Given the description of an element on the screen output the (x, y) to click on. 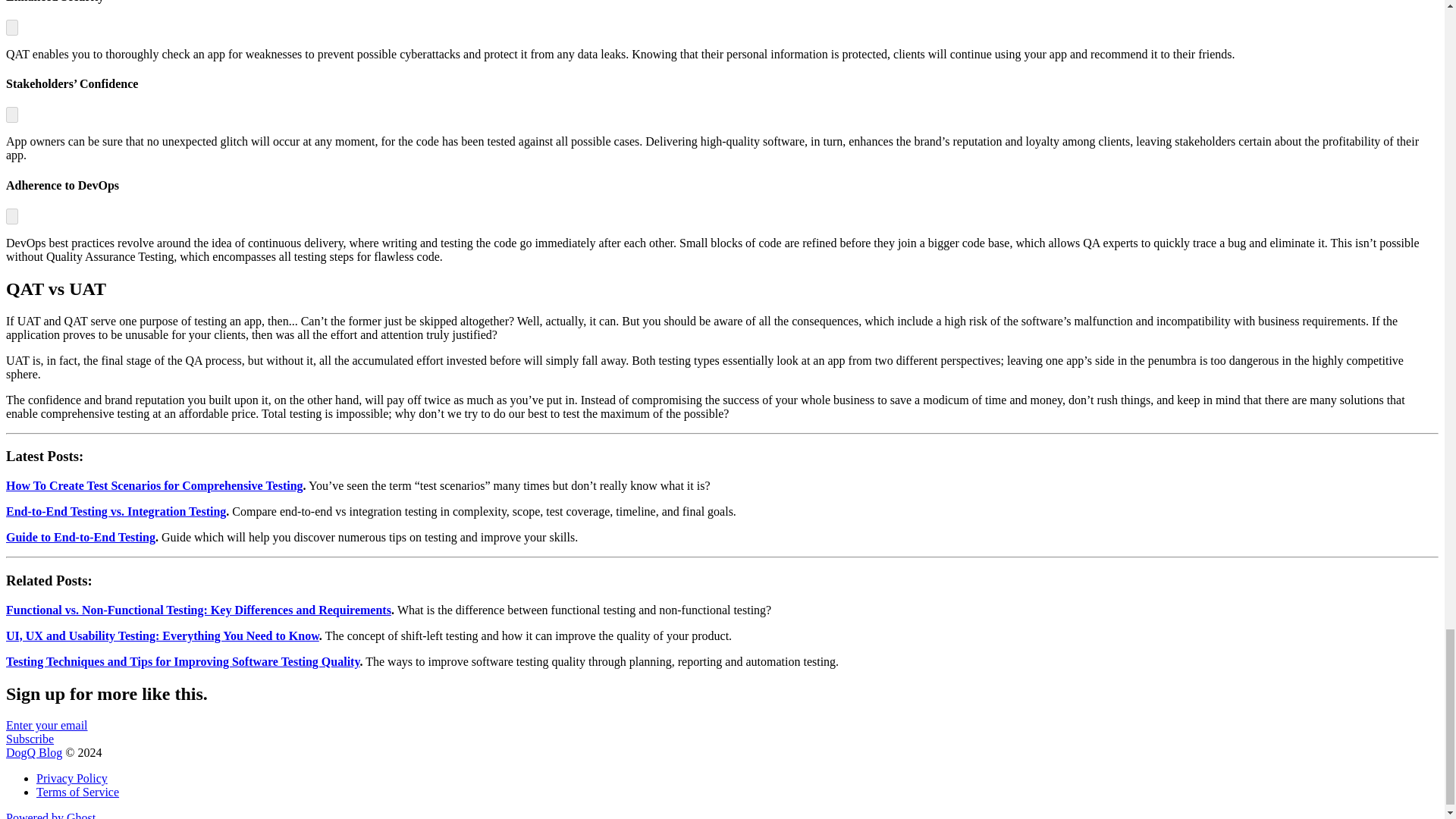
Guide to End-to-End Testing (80, 536)
Terms of Service (77, 791)
End-to-End Testing vs (62, 511)
Privacy Policy (71, 778)
How To Create Test Scenarios for Comprehensive Testing (153, 485)
DogQ Blog (33, 752)
UI, UX and Usability Testing: Everything You Need to Know (161, 635)
Integration Testing (174, 511)
